Given the description of an element on the screen output the (x, y) to click on. 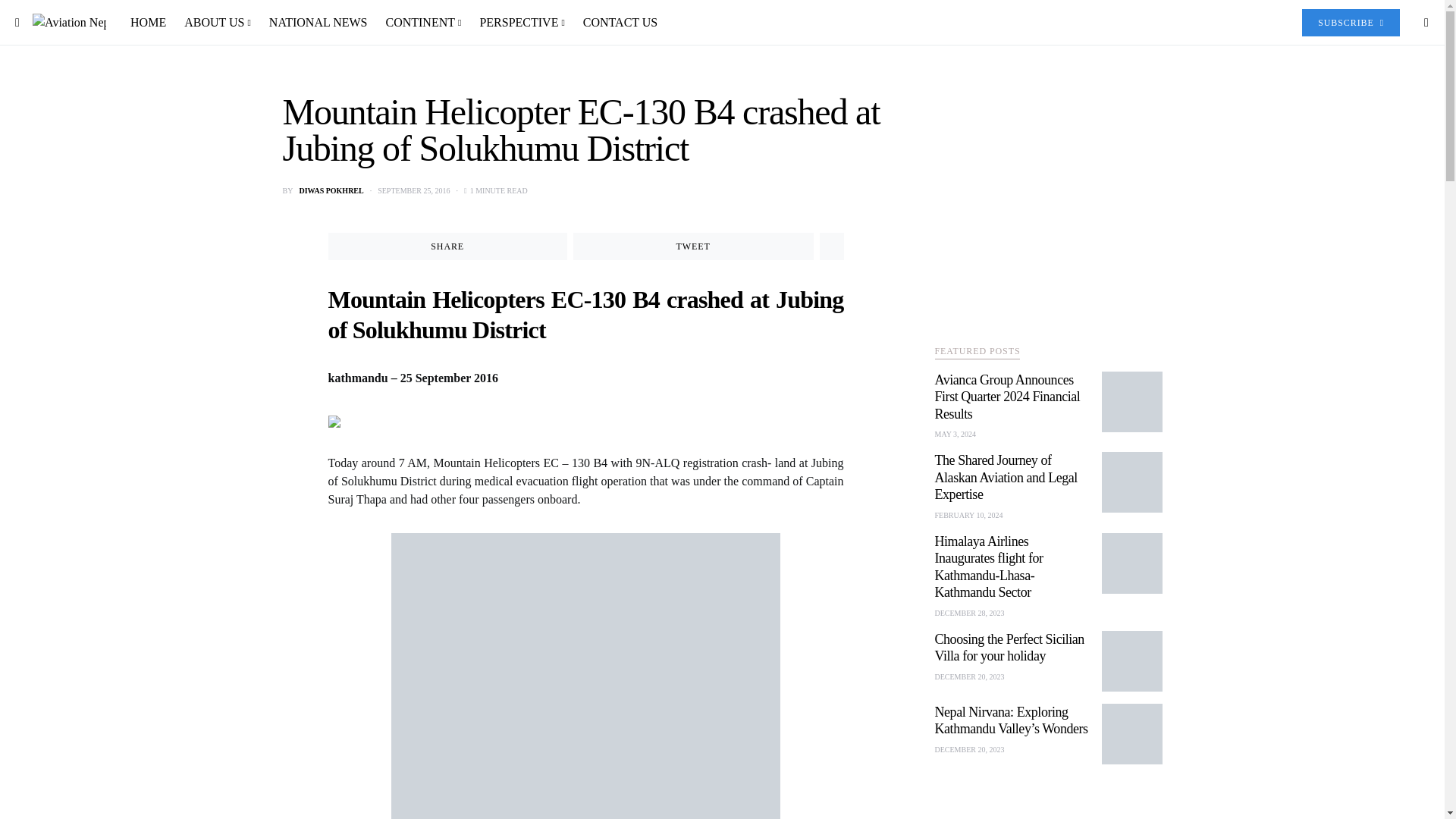
CONTACT US (615, 22)
DIWAS POKHREL (330, 190)
HOME (152, 22)
View all posts by Diwas Pokhrel (330, 190)
CONTINENT (422, 22)
NATIONAL NEWS (318, 22)
PERSPECTIVE (521, 22)
SUBSCRIBE (1350, 22)
ABOUT US (217, 22)
